Given the description of an element on the screen output the (x, y) to click on. 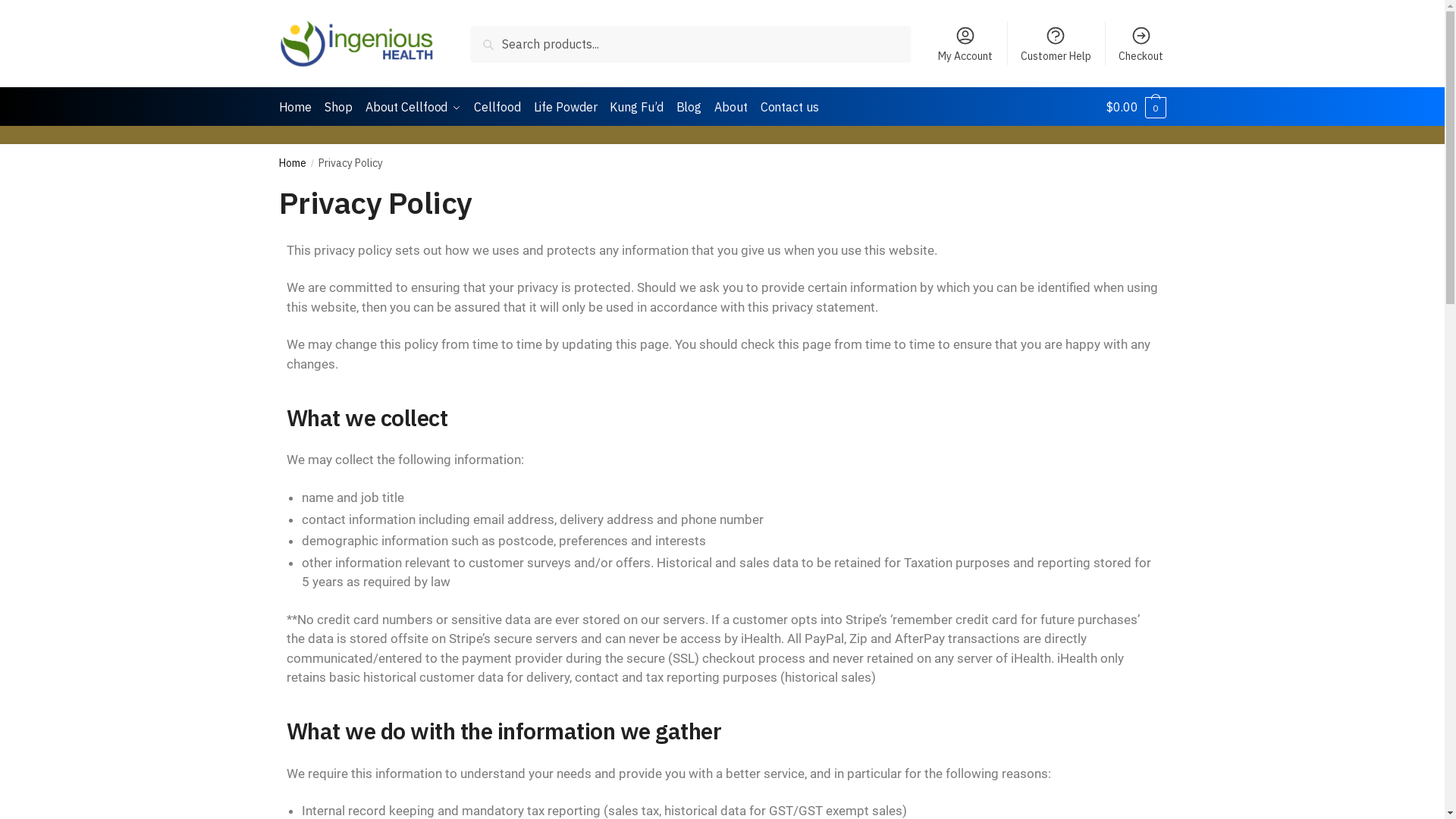
Search Element type: text (506, 42)
Cellfood Element type: text (496, 106)
Shop Element type: text (338, 106)
About Cellfood Element type: text (413, 106)
$0.00 0 Element type: text (1135, 106)
My Account Element type: text (965, 43)
Home Element type: text (292, 162)
Contact us Element type: text (789, 106)
Checkout Element type: text (1141, 43)
Blog Element type: text (689, 106)
About Element type: text (730, 106)
Home Element type: text (298, 106)
Customer Help Element type: text (1056, 43)
Life Powder Element type: text (565, 106)
